Given the description of an element on the screen output the (x, y) to click on. 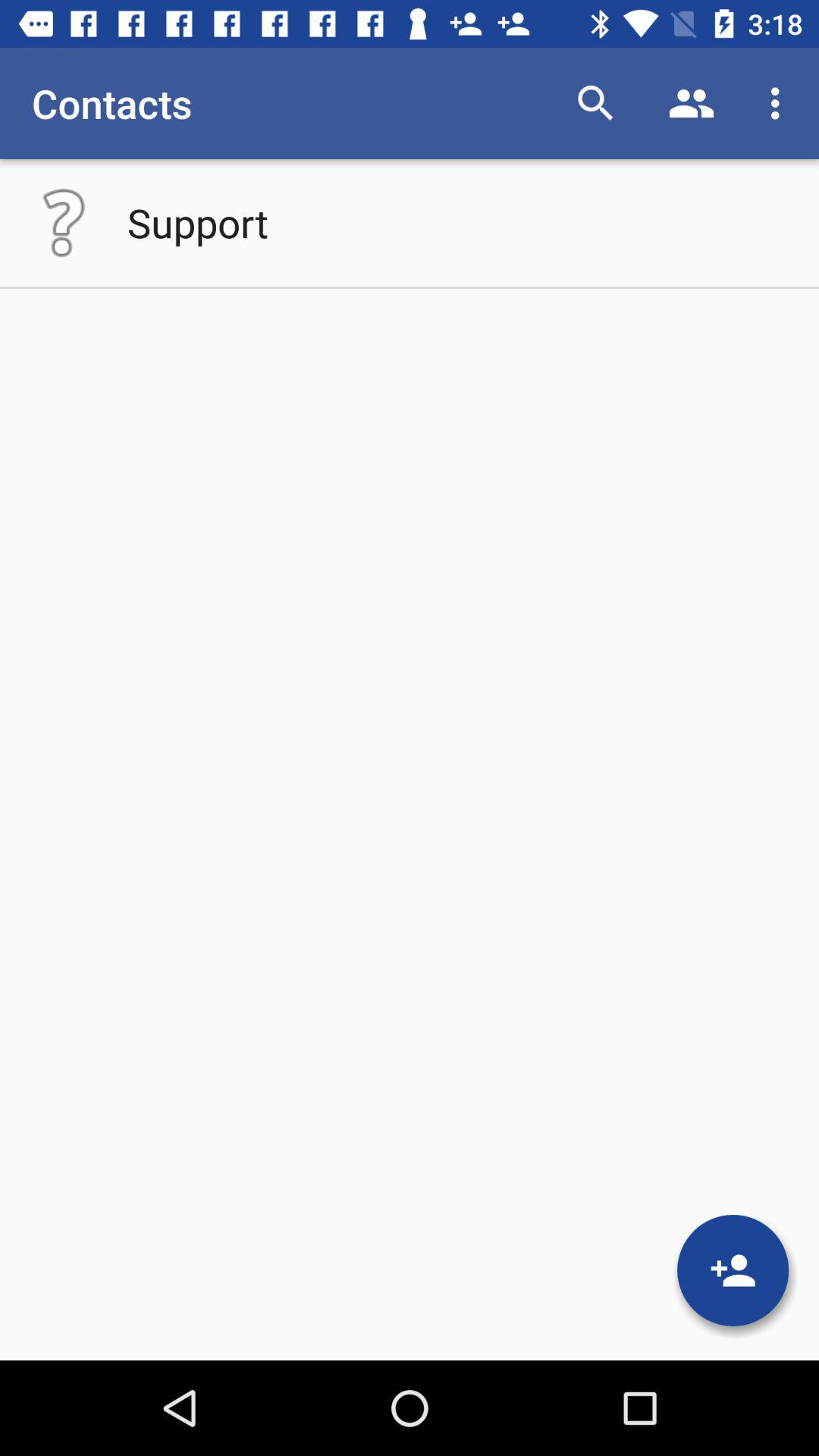
add friend (733, 1270)
